Given the description of an element on the screen output the (x, y) to click on. 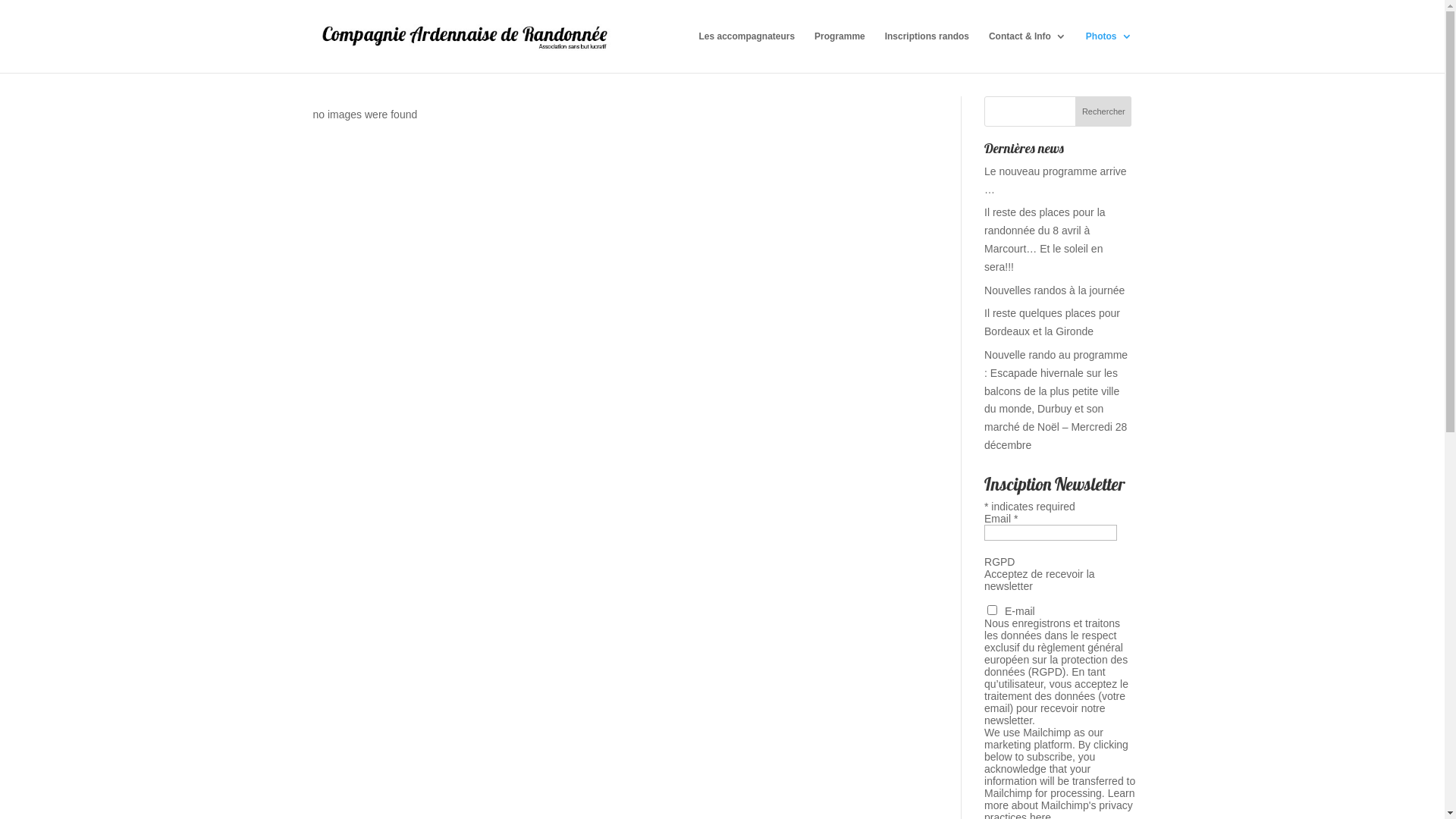
Programme Element type: text (839, 51)
Photos Element type: text (1108, 51)
Contact & Info Element type: text (1027, 51)
Il reste quelques places pour Bordeaux et la Gironde Element type: text (1052, 322)
Les accompagnateurs Element type: text (746, 51)
Inscriptions randos Element type: text (926, 51)
Rechercher Element type: text (1103, 111)
